Given the description of an element on the screen output the (x, y) to click on. 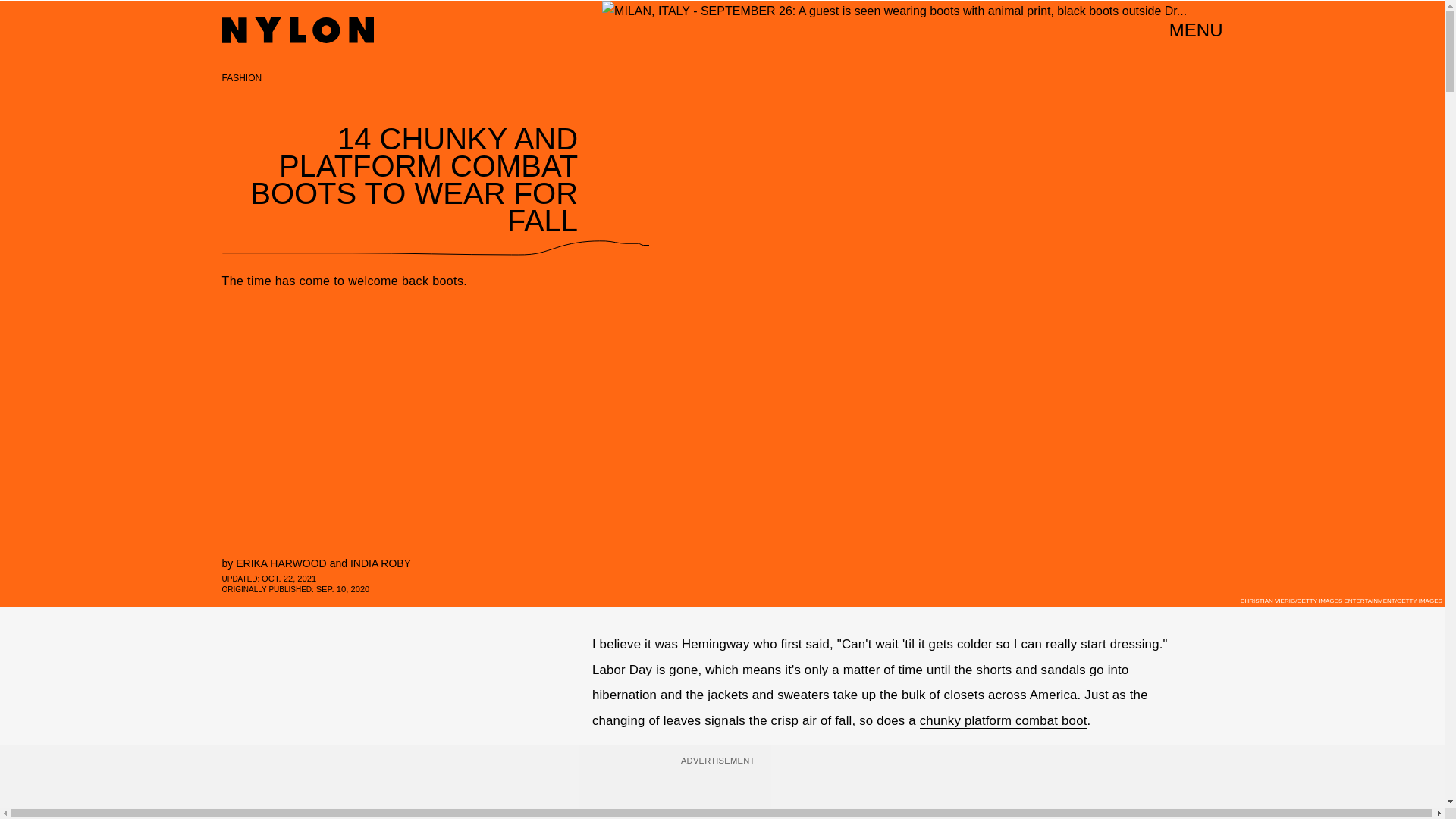
Nylon (296, 30)
ERIKA HARWOOD (280, 563)
INDIA ROBY (380, 563)
chunky platform combat boot (1003, 720)
